Given the description of an element on the screen output the (x, y) to click on. 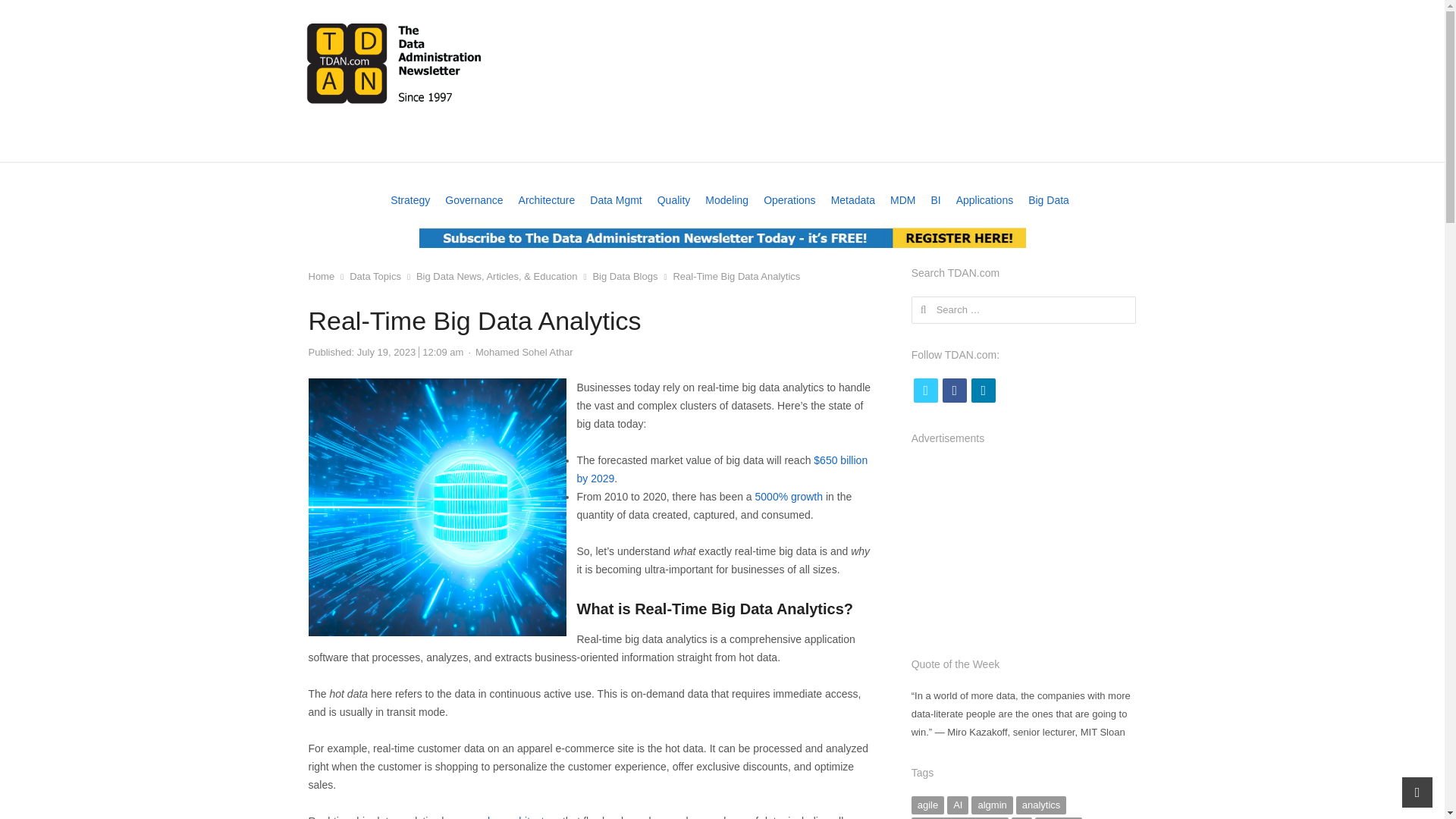
Facebook (954, 390)
Architecture (546, 200)
Articles (719, 144)
Webinars (472, 144)
Quality (674, 200)
MDM (902, 200)
Home (325, 144)
Applications (984, 200)
Blogs (907, 144)
Metadata (853, 200)
